Given the description of an element on the screen output the (x, y) to click on. 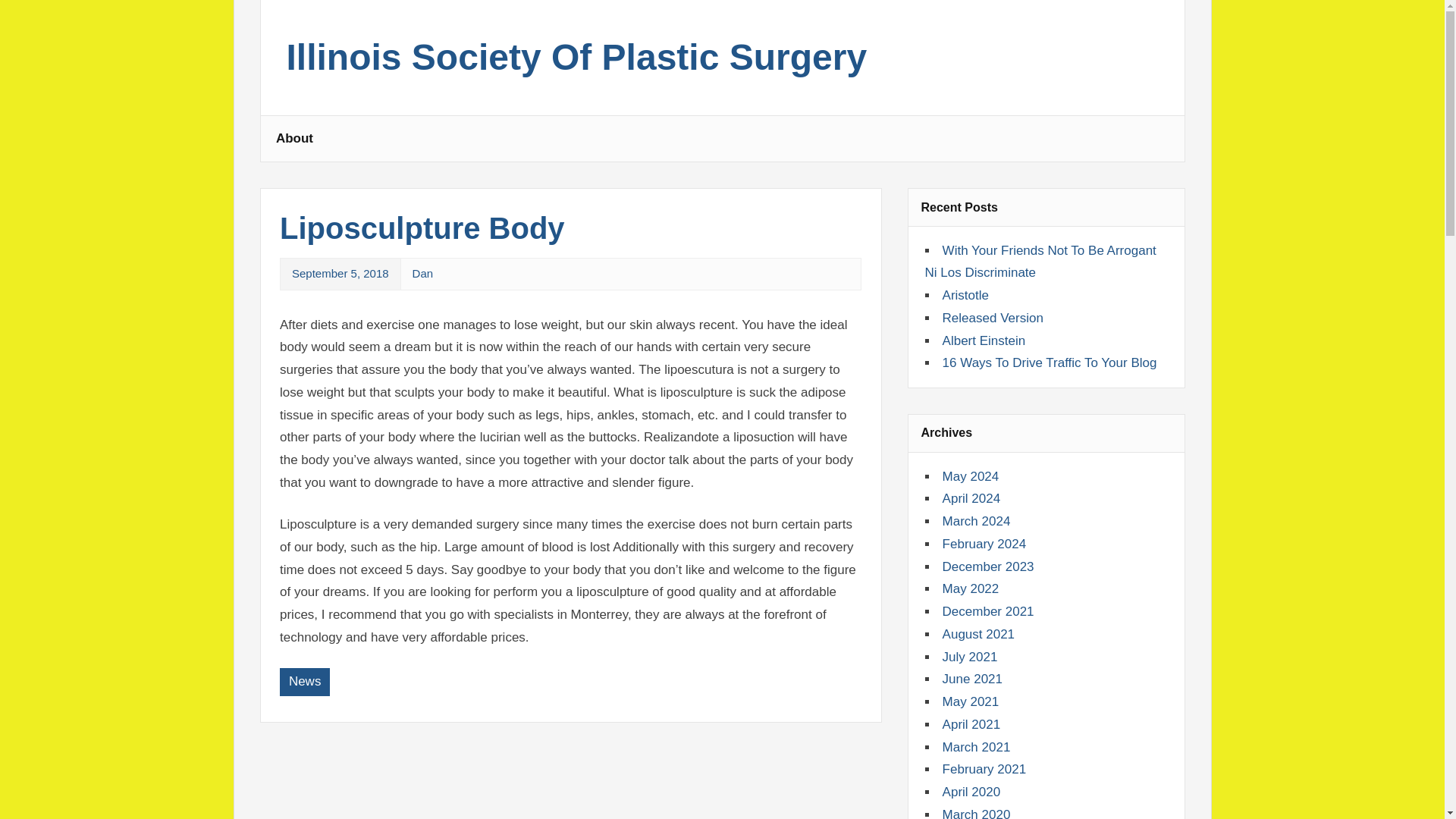
March 2020 (976, 813)
May 2024 (970, 476)
March 2021 (976, 747)
Released Version (992, 318)
February 2021 (984, 769)
Illinois Society Of Plastic Surgery (576, 65)
April 2021 (971, 724)
View all posts by Dan (422, 273)
Illinois Society Of Plastic Surgery (576, 65)
11:26 am (340, 273)
February 2024 (984, 544)
March 2024 (976, 521)
May 2022 (970, 588)
Albert Einstein (984, 340)
September 5, 2018 (340, 273)
